Given the description of an element on the screen output the (x, y) to click on. 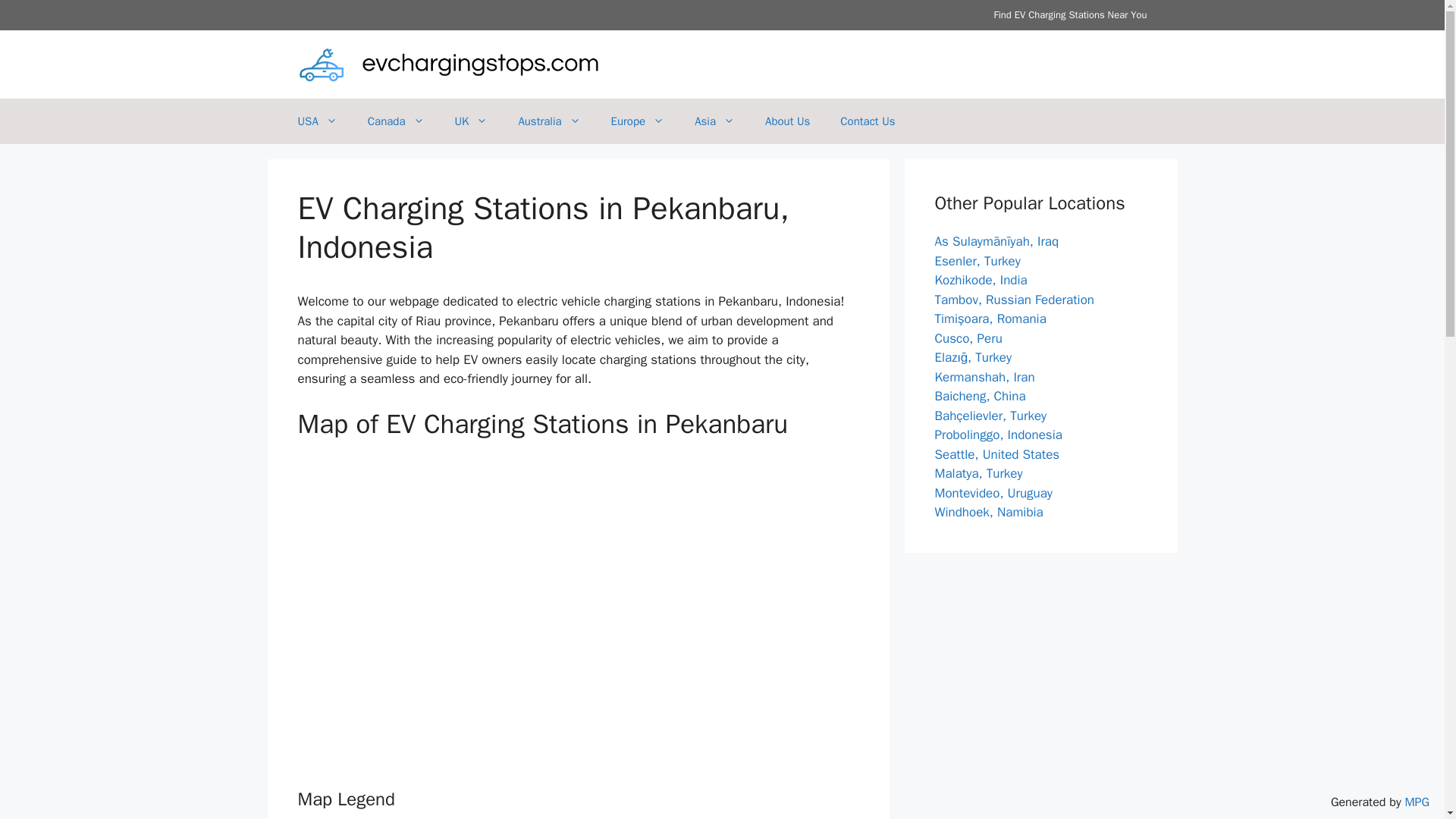
Australia (548, 121)
USA (317, 121)
UK (471, 121)
Canada (395, 121)
